Given the description of an element on the screen output the (x, y) to click on. 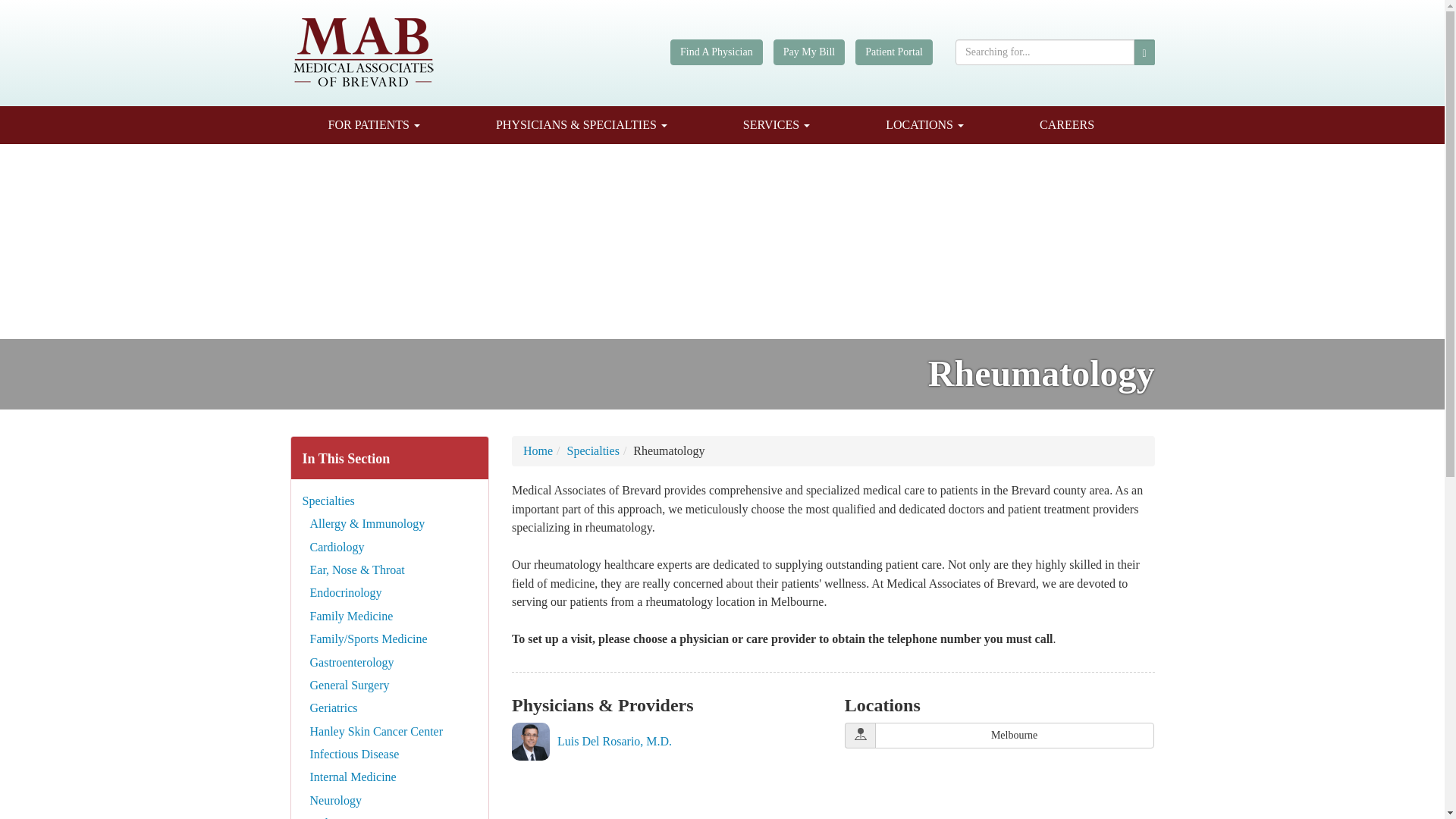
Pay My Bill (808, 52)
SERVICES (775, 125)
Patient Portal (894, 52)
Find A Physician (715, 52)
FOR PATIENTS (373, 125)
